Given the description of an element on the screen output the (x, y) to click on. 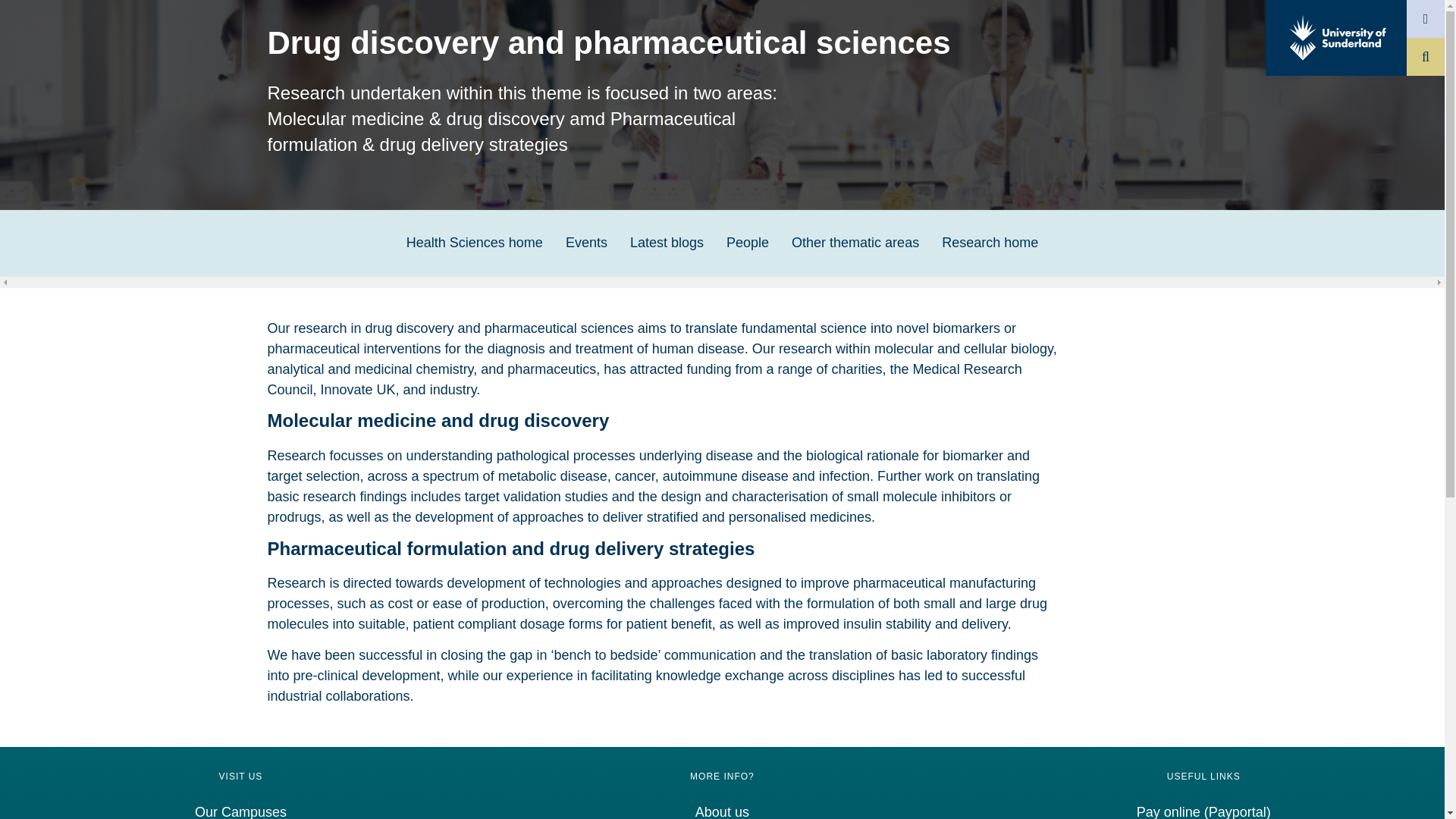
Pay online (1204, 811)
